Given the description of an element on the screen output the (x, y) to click on. 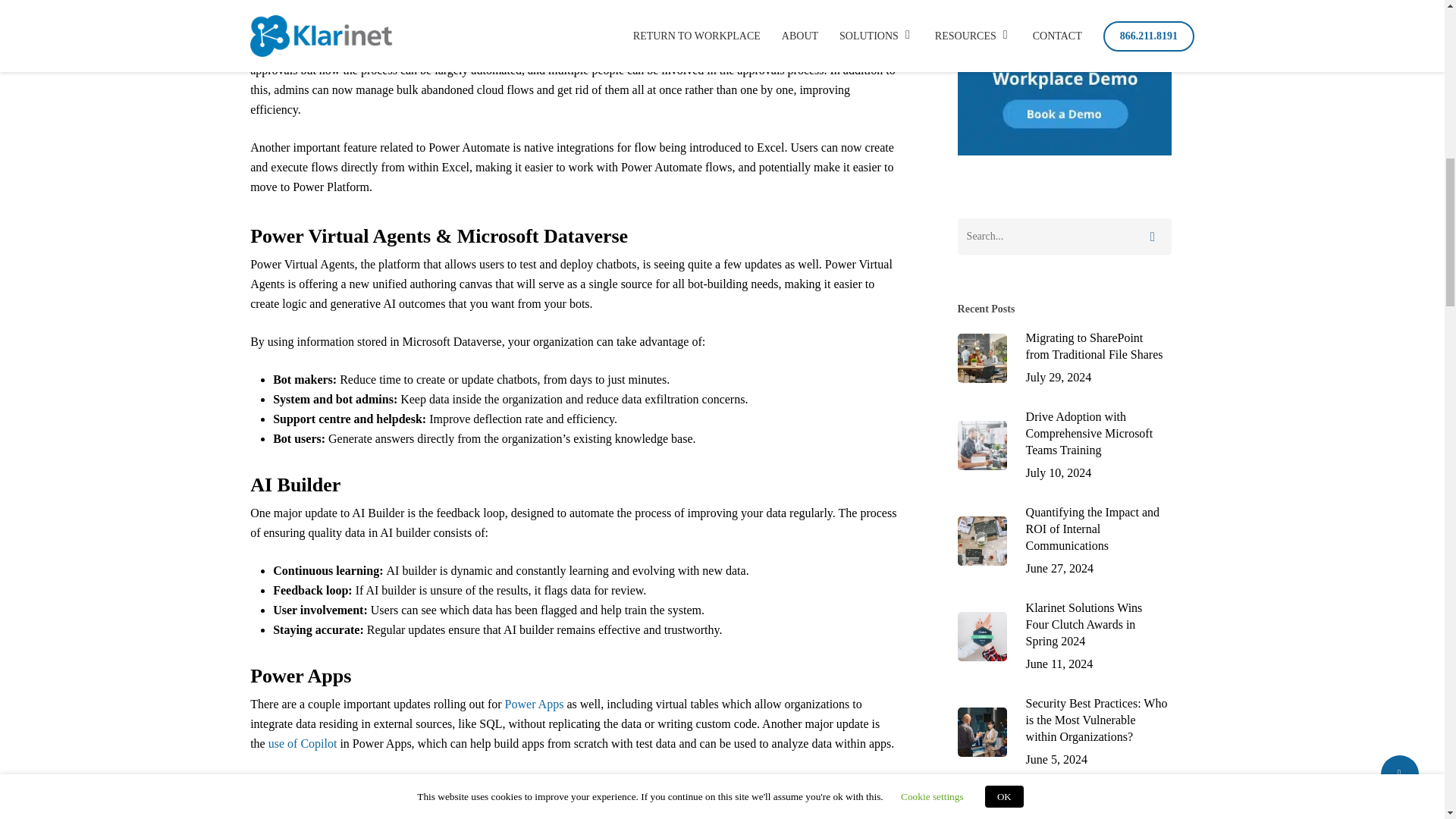
Search for: (1065, 236)
Power Apps (534, 703)
use of Copilot (302, 743)
7 Best Microsoft Power Apps Use Cases (534, 703)
